Given the description of an element on the screen output the (x, y) to click on. 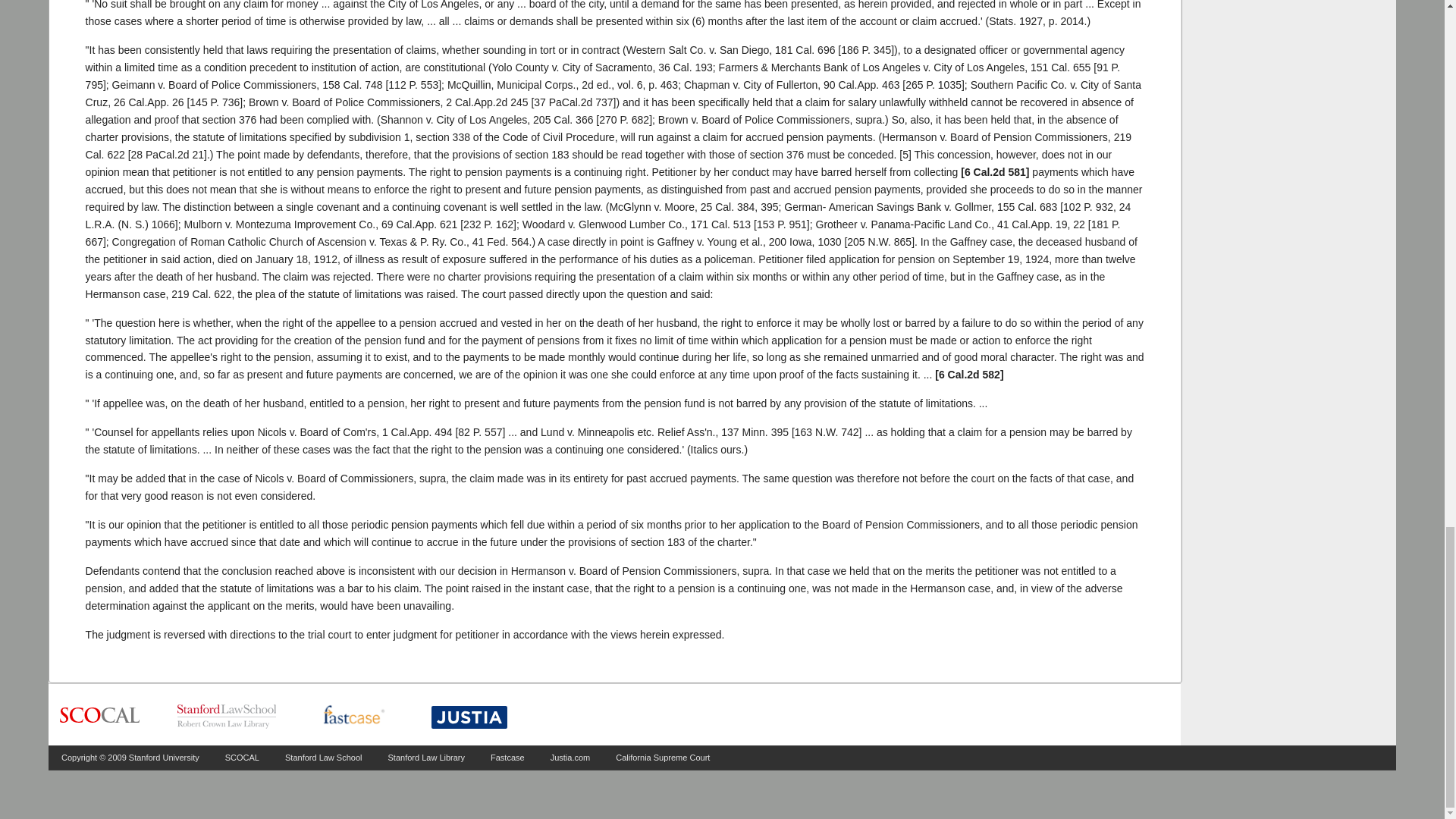
Justia.com (570, 757)
Stanford Law Library (426, 757)
Supreme Court of California (99, 715)
Stanford Law School (323, 757)
California Supreme Court (662, 757)
Stanford Law School - Robert Crown Law Library (226, 715)
SCOCAL (242, 757)
fastcase (353, 716)
Justia (468, 716)
Fastcase (507, 757)
